Given the description of an element on the screen output the (x, y) to click on. 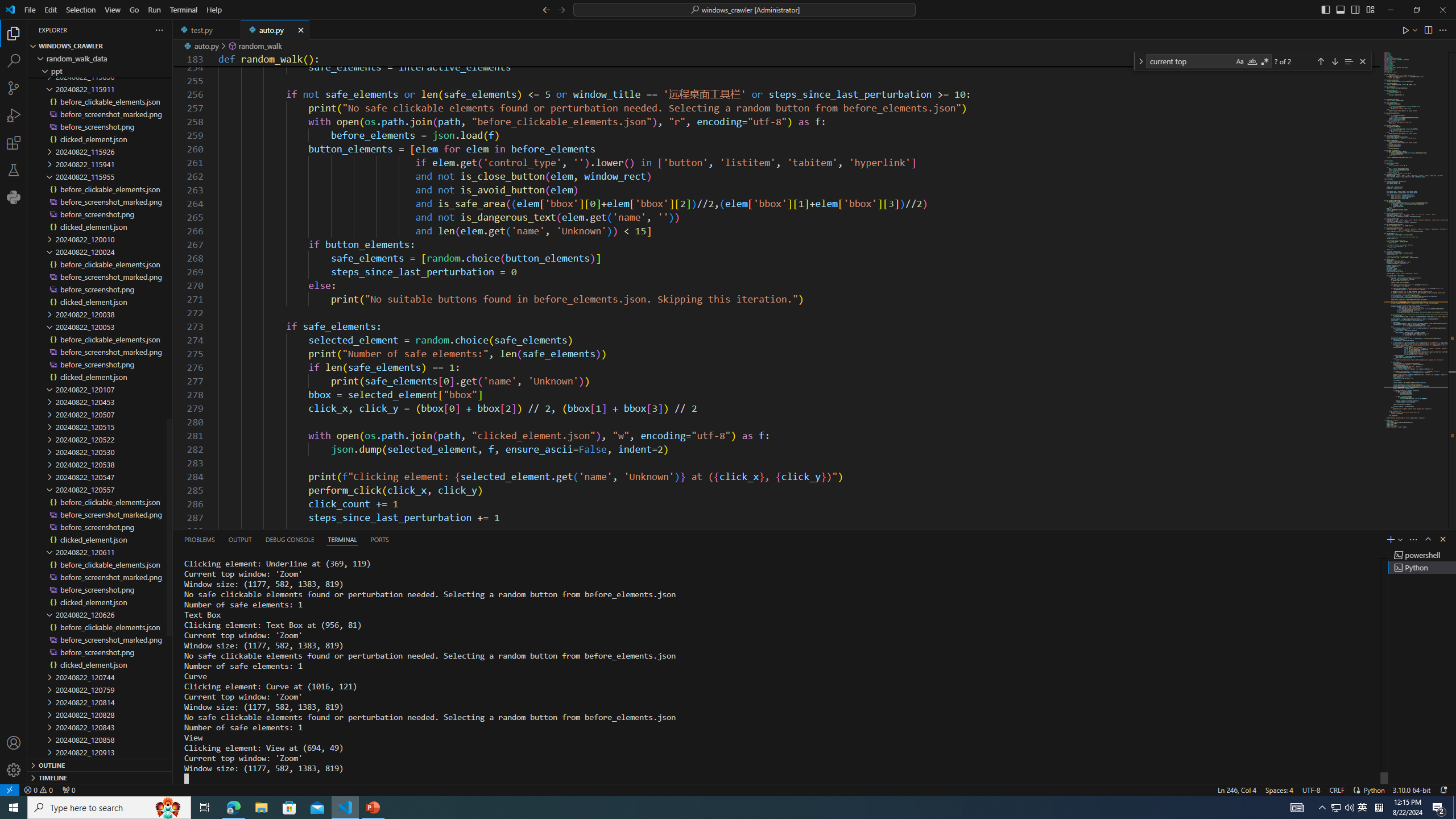
File (30, 9)
Toggle Primary Side Bar (Ctrl+B) (1325, 9)
UTF-8 (1310, 789)
Ln 246, Col 4 (1236, 789)
Python (13, 197)
